Given the description of an element on the screen output the (x, y) to click on. 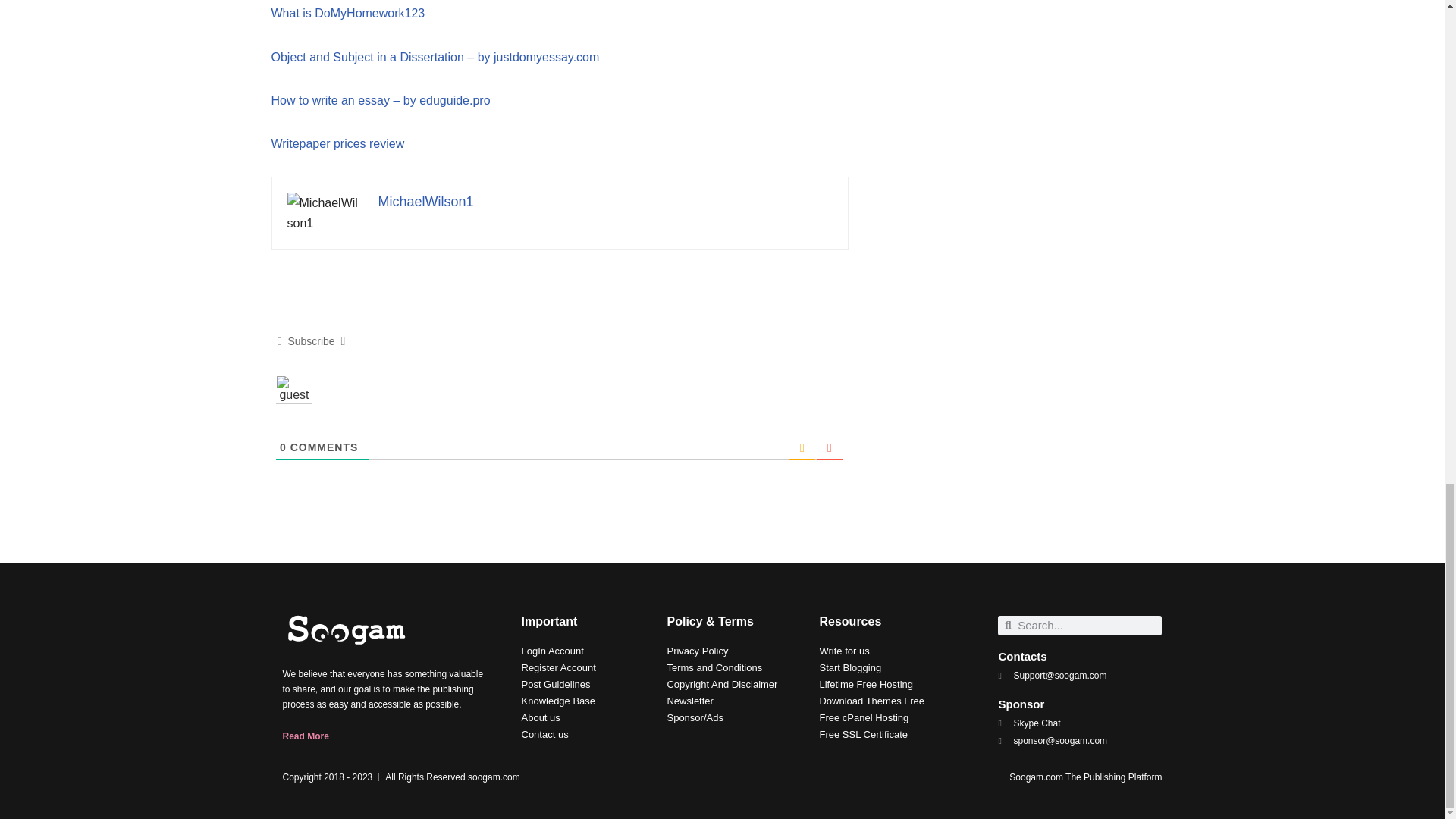
What is DoMyHomework123 (347, 12)
Writepaper prices review (337, 143)
MichaelWilson1 (425, 201)
